Given the description of an element on the screen output the (x, y) to click on. 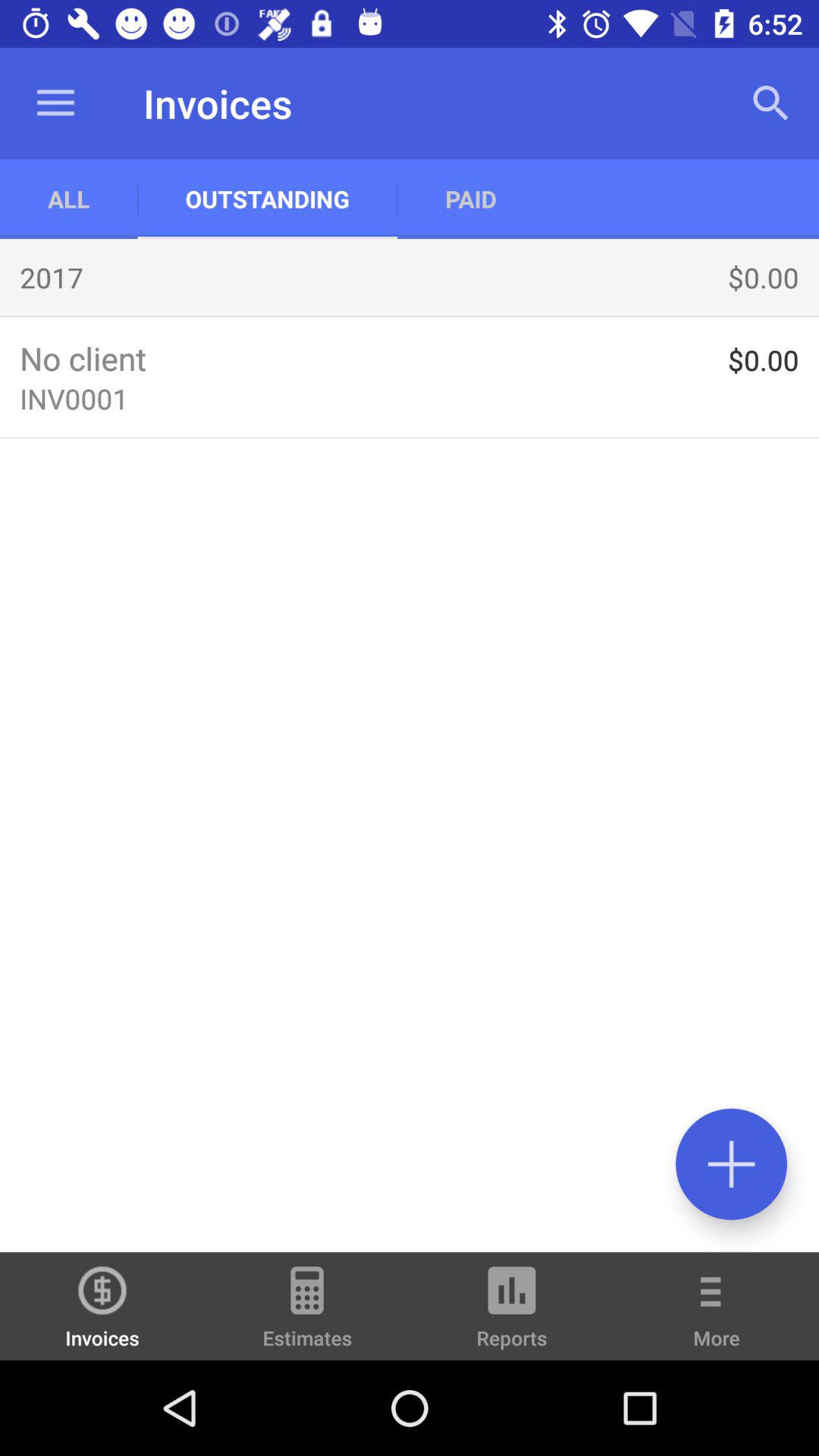
turn off icon next to paid item (267, 198)
